Given the description of an element on the screen output the (x, y) to click on. 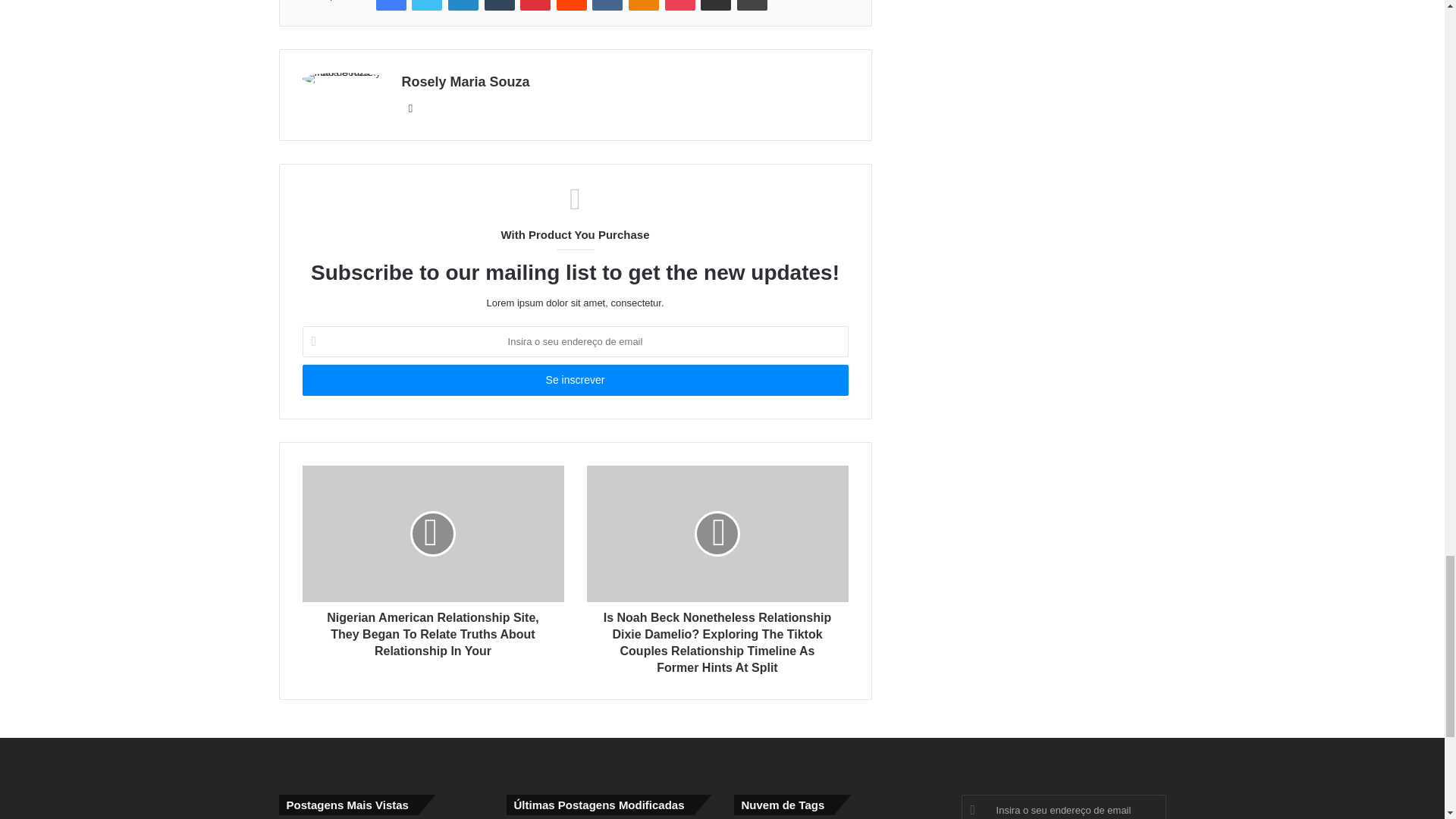
Se inscrever (574, 379)
